Given the description of an element on the screen output the (x, y) to click on. 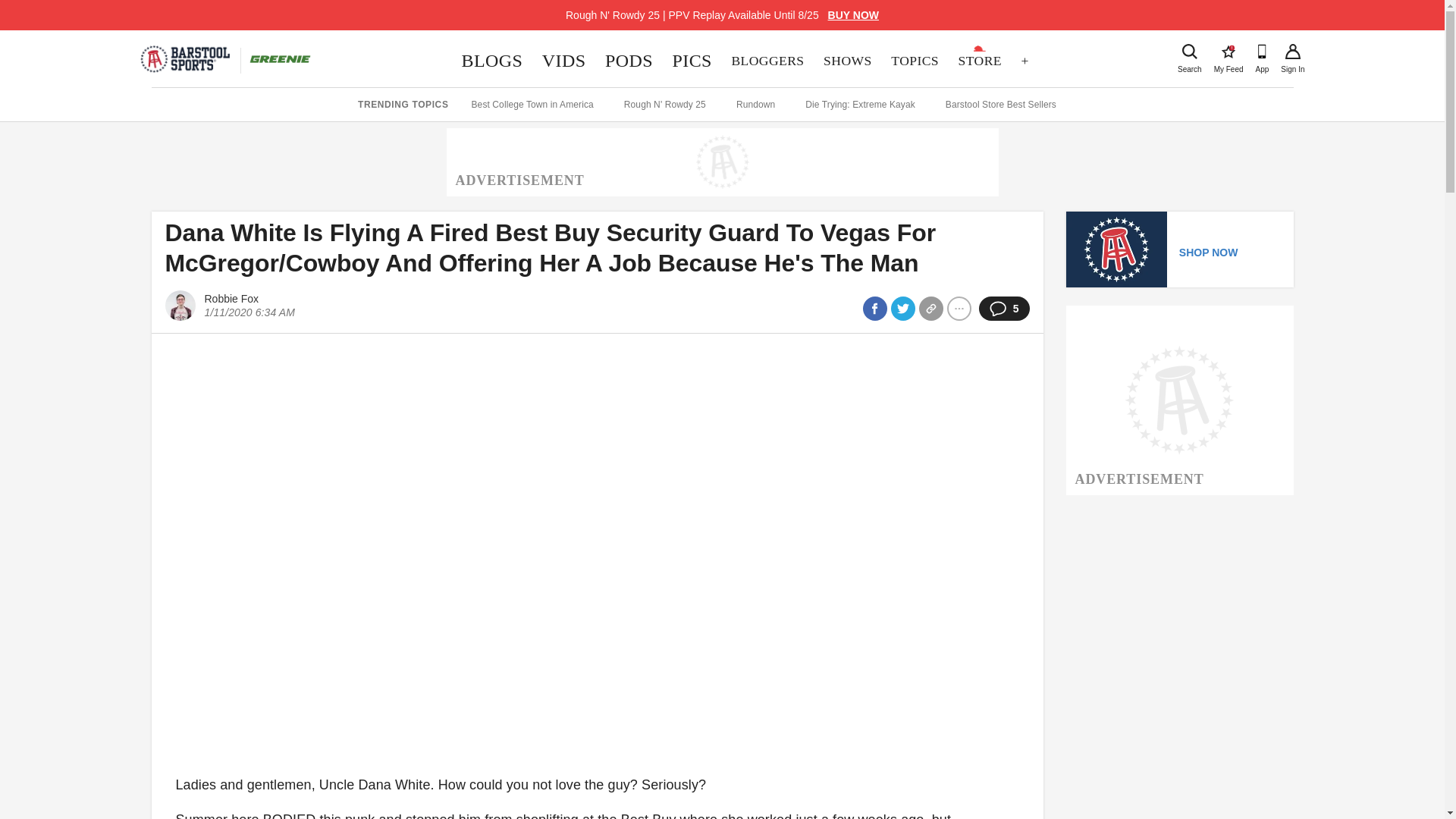
BLOGGERS (767, 60)
Search (1189, 51)
SHOWS (846, 60)
PICS (692, 60)
Sign Up (1292, 51)
TOPICS (913, 60)
STORE (1228, 51)
BLOGS (980, 60)
VIDS (491, 60)
